Given the description of an element on the screen output the (x, y) to click on. 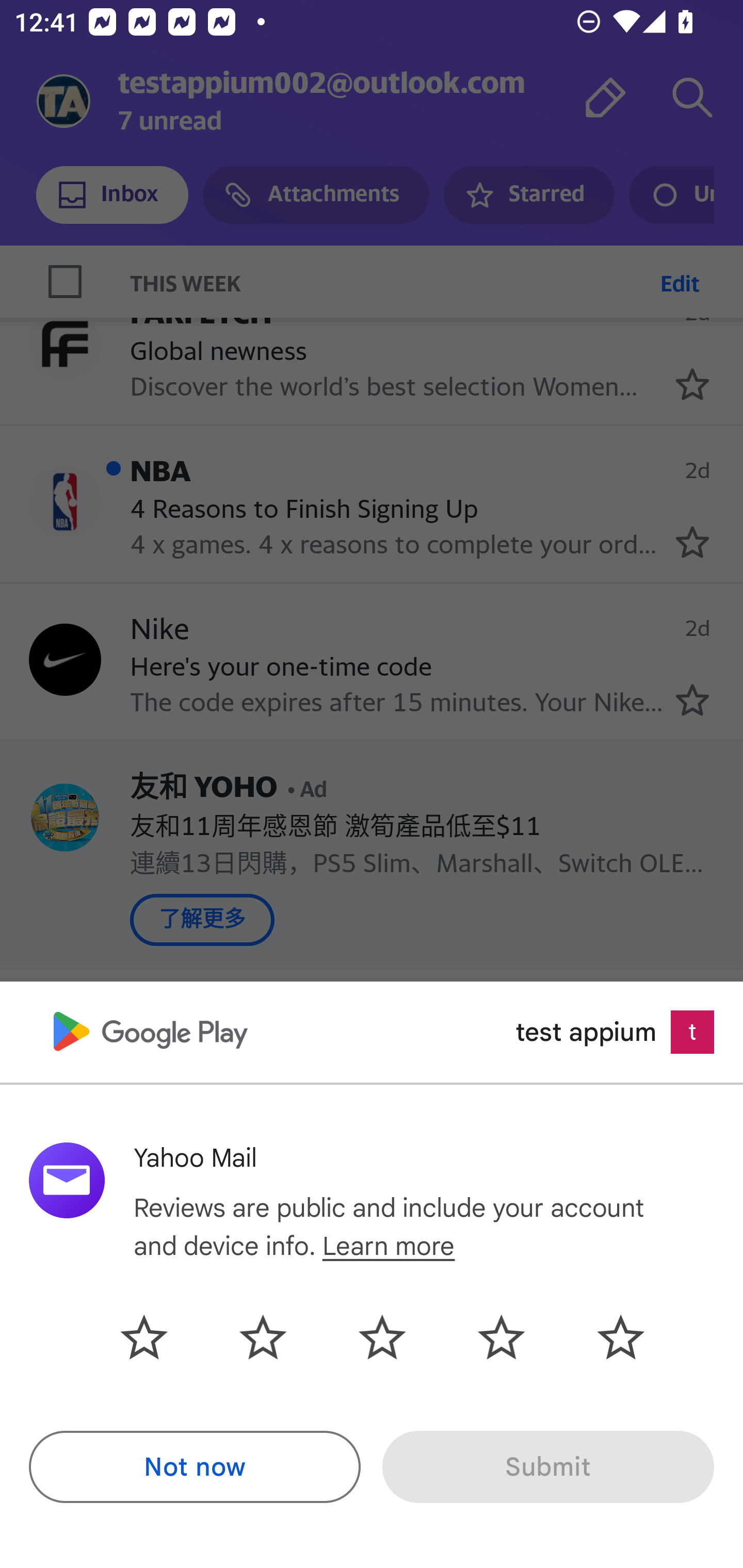
First star unselected (159, 1336)
Second star unselected (262, 1336)
Third star unselected (381, 1336)
Fourth star unselected (500, 1336)
Fifth star unselected (604, 1336)
Not now (194, 1466)
